Given the description of an element on the screen output the (x, y) to click on. 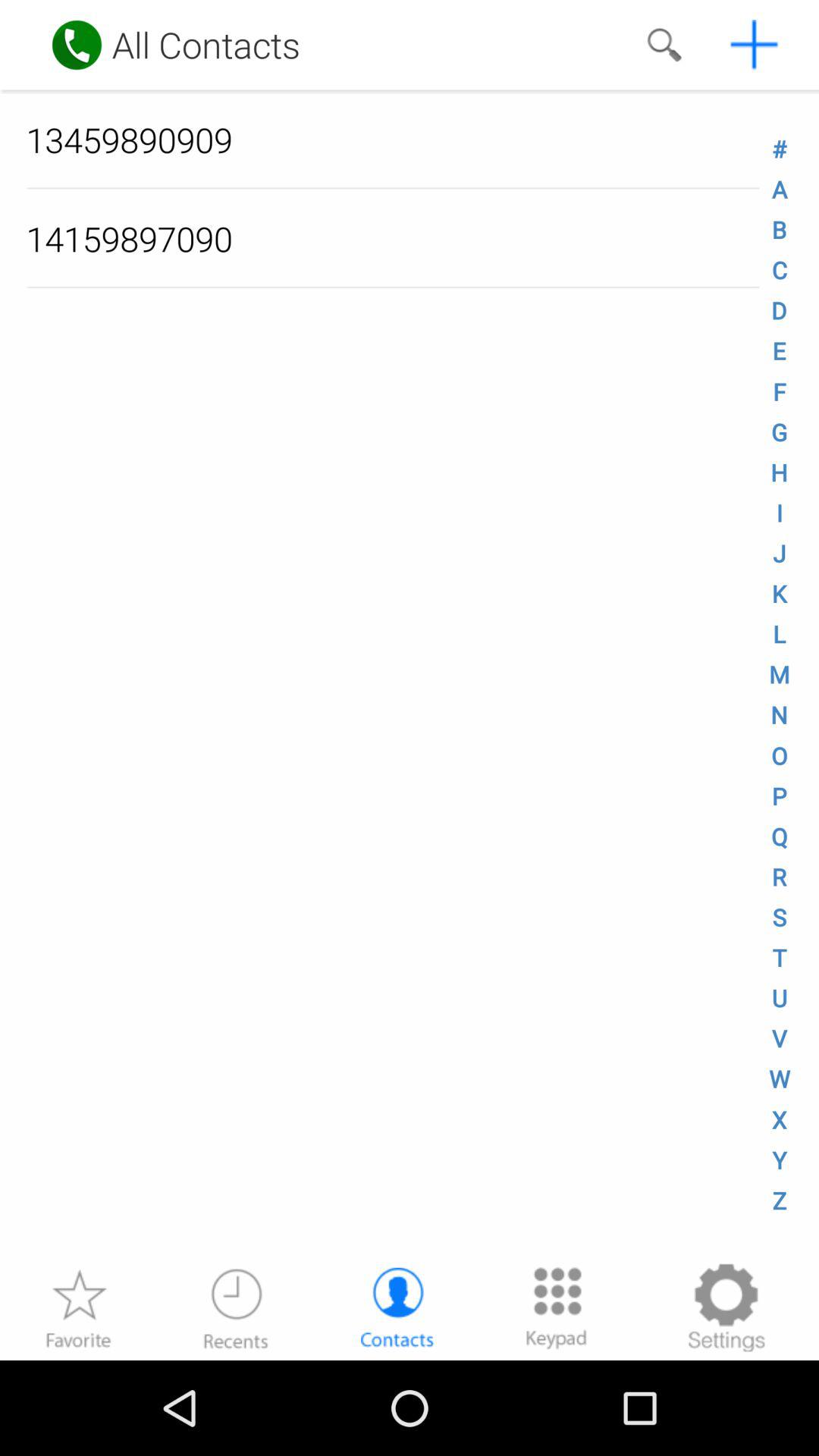
go to favourite option (78, 1307)
